Given the description of an element on the screen output the (x, y) to click on. 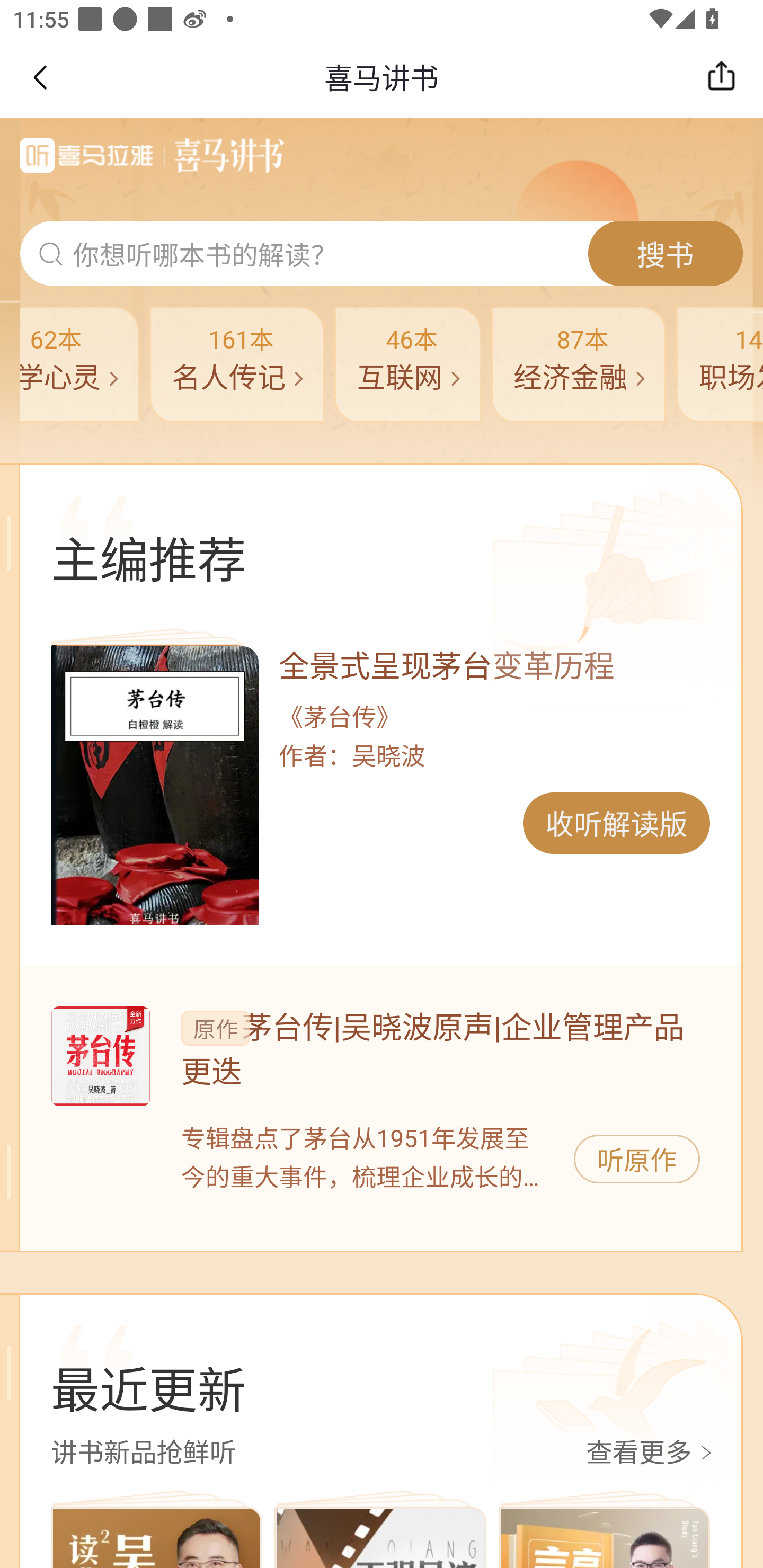
返回 (39, 77)
分享 (725, 77)
ic_search@3x 你想听哪本书的解读？ 搜书 (381, 253)
62本 哲学心灵 search_tab_go@3x (79, 364)
161本 名人传记 search_tab_go@3x (237, 364)
46本 互联网 search_tab_go@3x (407, 364)
87本 经济金融 search_tab_go@3x (579, 364)
wDMRKpPTcKyaAAAAABJRU5ErkJggg== 图片，按钮 (154, 785)
收听解读版 (615, 822)
图片，按钮 (100, 1055)
听原作 (636, 1158)
查看更多 切片 (651, 1453)
